Given the description of an element on the screen output the (x, y) to click on. 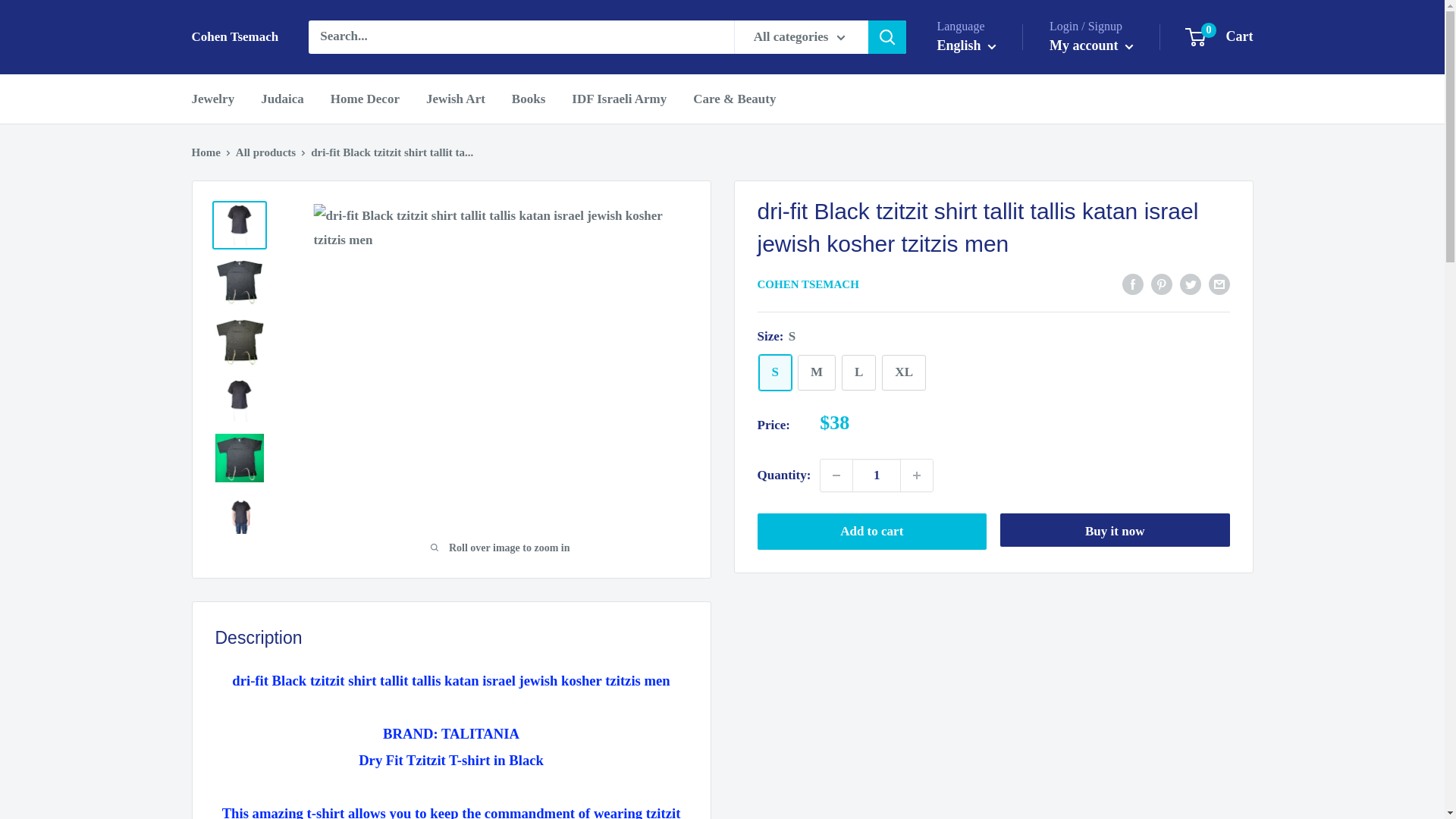
IDF Israeli Army (619, 98)
M (816, 372)
L (1219, 36)
English (858, 372)
Cohen Tsemach (965, 45)
en (234, 37)
S (980, 88)
My account (774, 372)
Jewish Art (1091, 45)
